Given the description of an element on the screen output the (x, y) to click on. 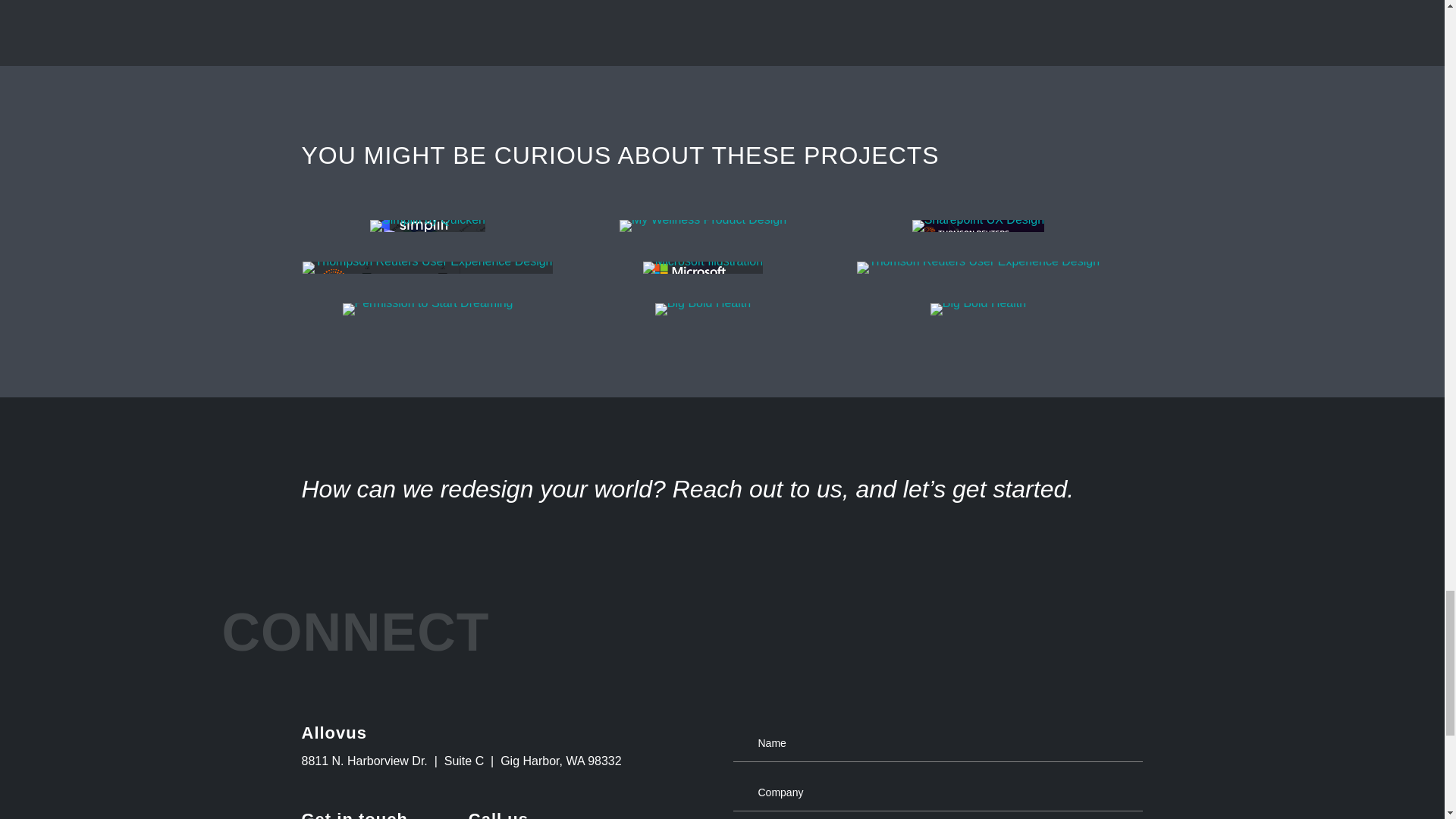
Thomson Reuters User Experience Design (978, 267)
HarborPros-Hover (978, 309)
Microsoft Illustration (702, 267)
Simplifi by Quicken (426, 225)
Sharepoint UX Design (977, 225)
Thompson Reuters User Experience Design (426, 267)
PSDF-Hover-Alt (427, 309)
My Wellness Product Design (703, 225)
BBH-Hover (703, 309)
